Given the description of an element on the screen output the (x, y) to click on. 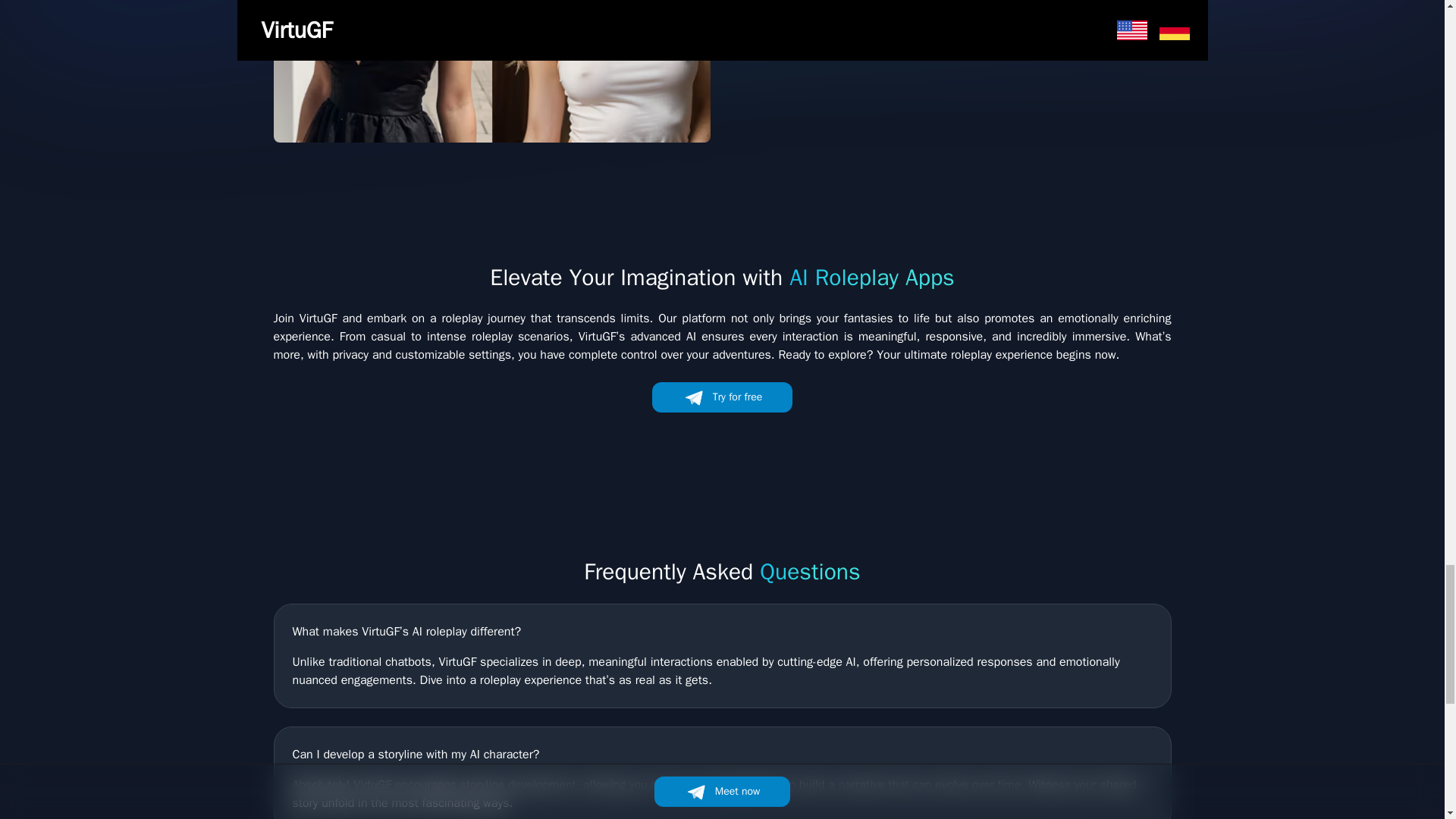
Try for free (722, 397)
Try for free (952, 10)
AI girlfriend (491, 71)
